Given the description of an element on the screen output the (x, y) to click on. 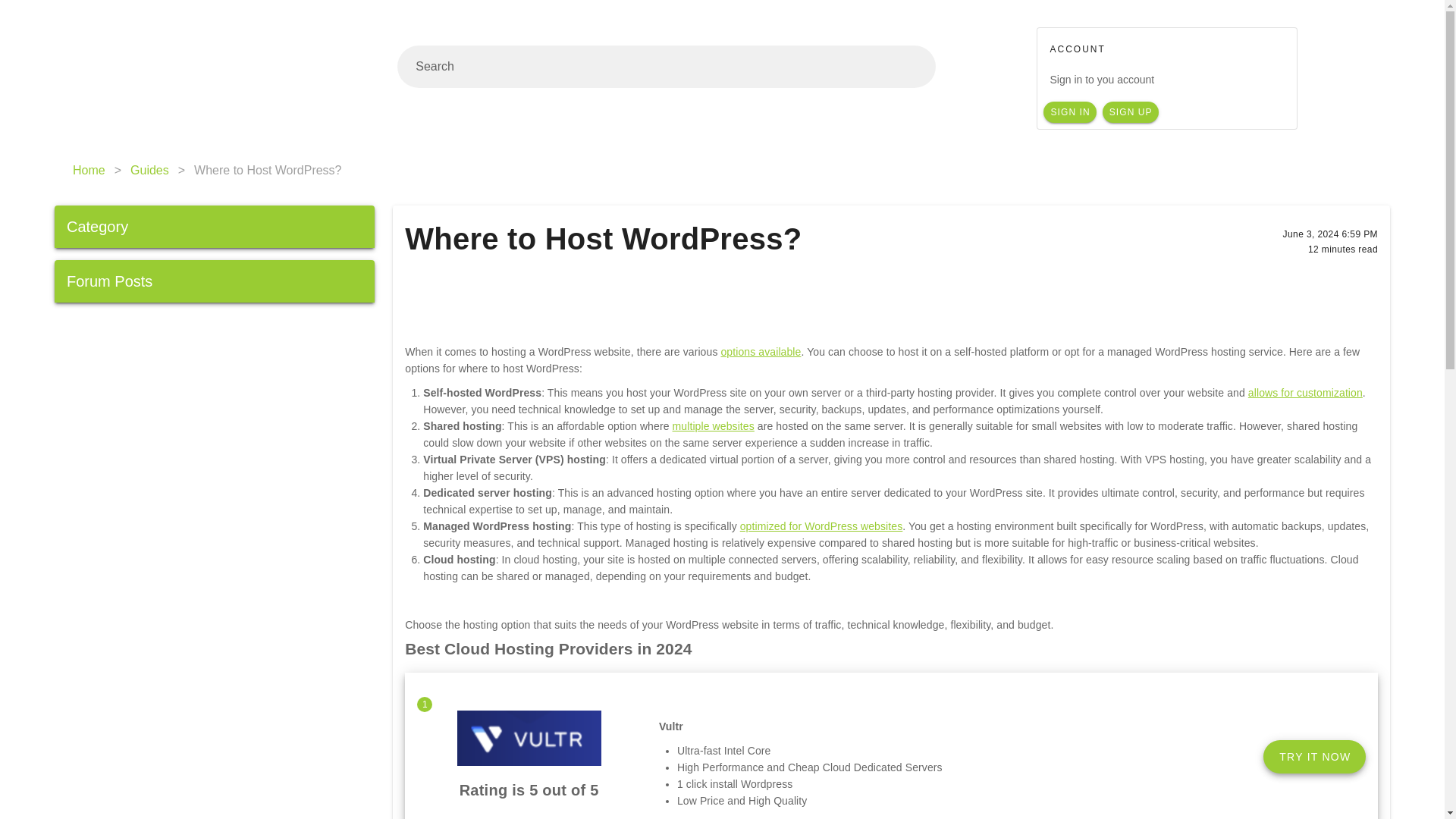
Home (88, 170)
Guides (149, 170)
Where to Host WordPress? (266, 170)
SIGN UP (1130, 111)
multiple websites (713, 426)
TRY IT NOW (1314, 756)
allows for customization (1304, 392)
SIGN IN (1069, 111)
optimized for WordPress websites (820, 526)
options available (760, 351)
